Given the description of an element on the screen output the (x, y) to click on. 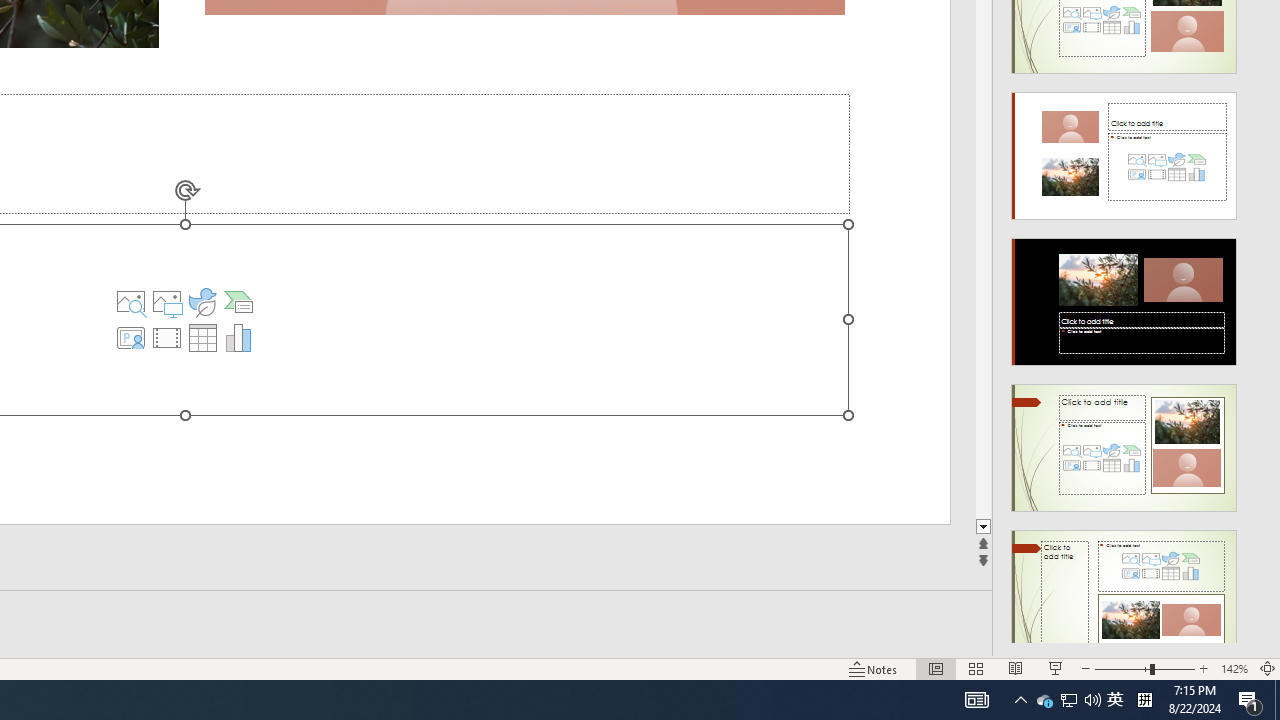
Insert Video (167, 337)
Stock Images (131, 301)
Insert a SmartArt Graphic (1044, 699)
Insert Table (238, 301)
Insert Chart (202, 337)
